Given the description of an element on the screen output the (x, y) to click on. 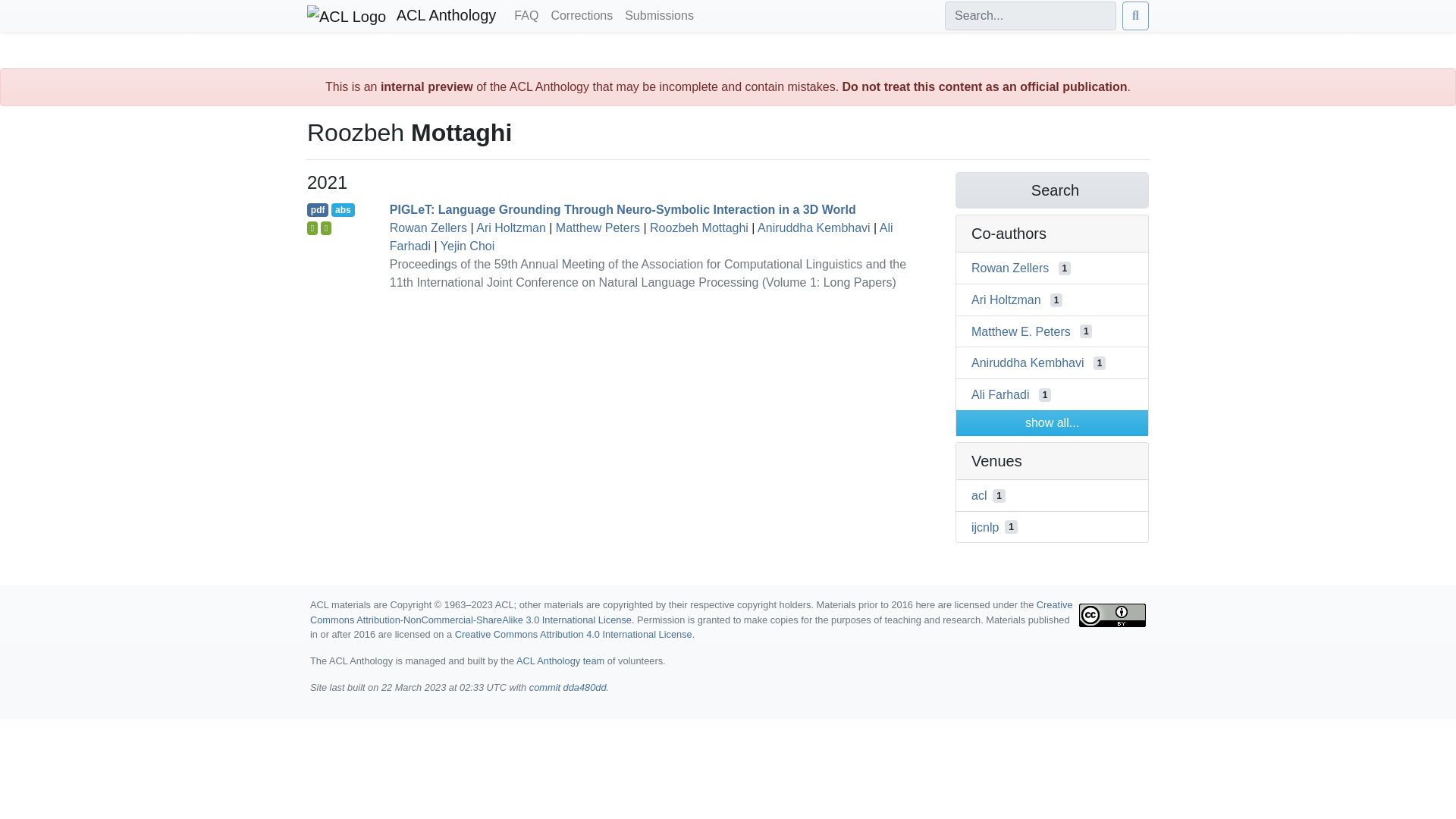
Roozbeh Mottaghi (698, 227)
ACL Anthology team (560, 660)
Ari Holtzman (1006, 299)
Aniruddha Kembhavi (1027, 362)
Aniruddha Kembhavi (813, 227)
ijcnlp (984, 526)
Matthew E. Peters (1020, 330)
Ari Holtzman (511, 227)
Ali Farhadi (1000, 394)
Search for 'Roozbeh Mottaghi' on Semantic Scholar (1051, 189)
ACL Anthology (401, 15)
pdf (318, 210)
Creative Commons Attribution 4.0 International License (573, 633)
Search (1051, 189)
